Given the description of an element on the screen output the (x, y) to click on. 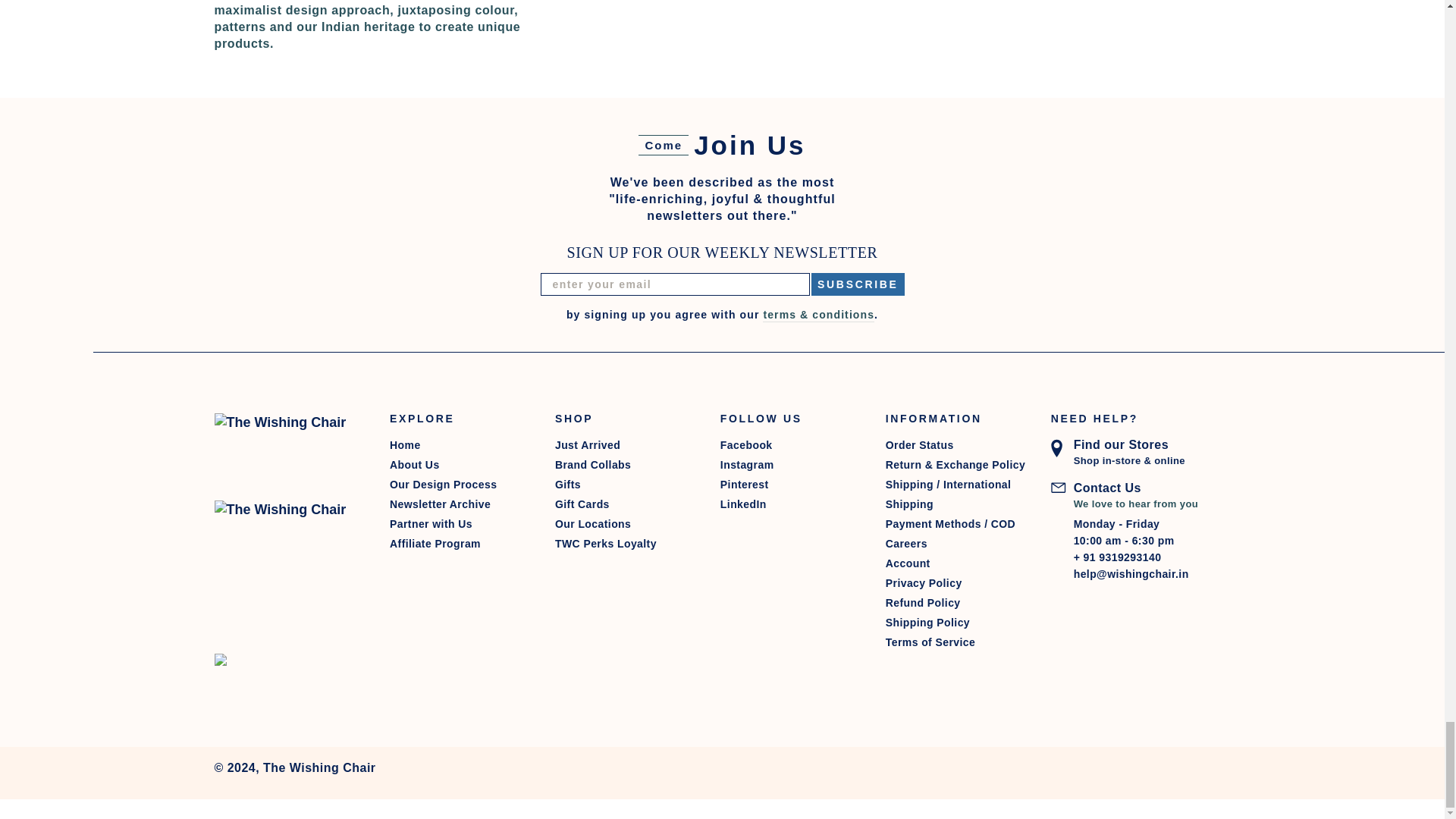
The Wishing Chair on Facebook (788, 444)
The Wishing Chair on Instagram (788, 465)
The Wishing Chair on LinkedIn (788, 504)
The Wishing Chair on Pinterest (788, 484)
